Given the description of an element on the screen output the (x, y) to click on. 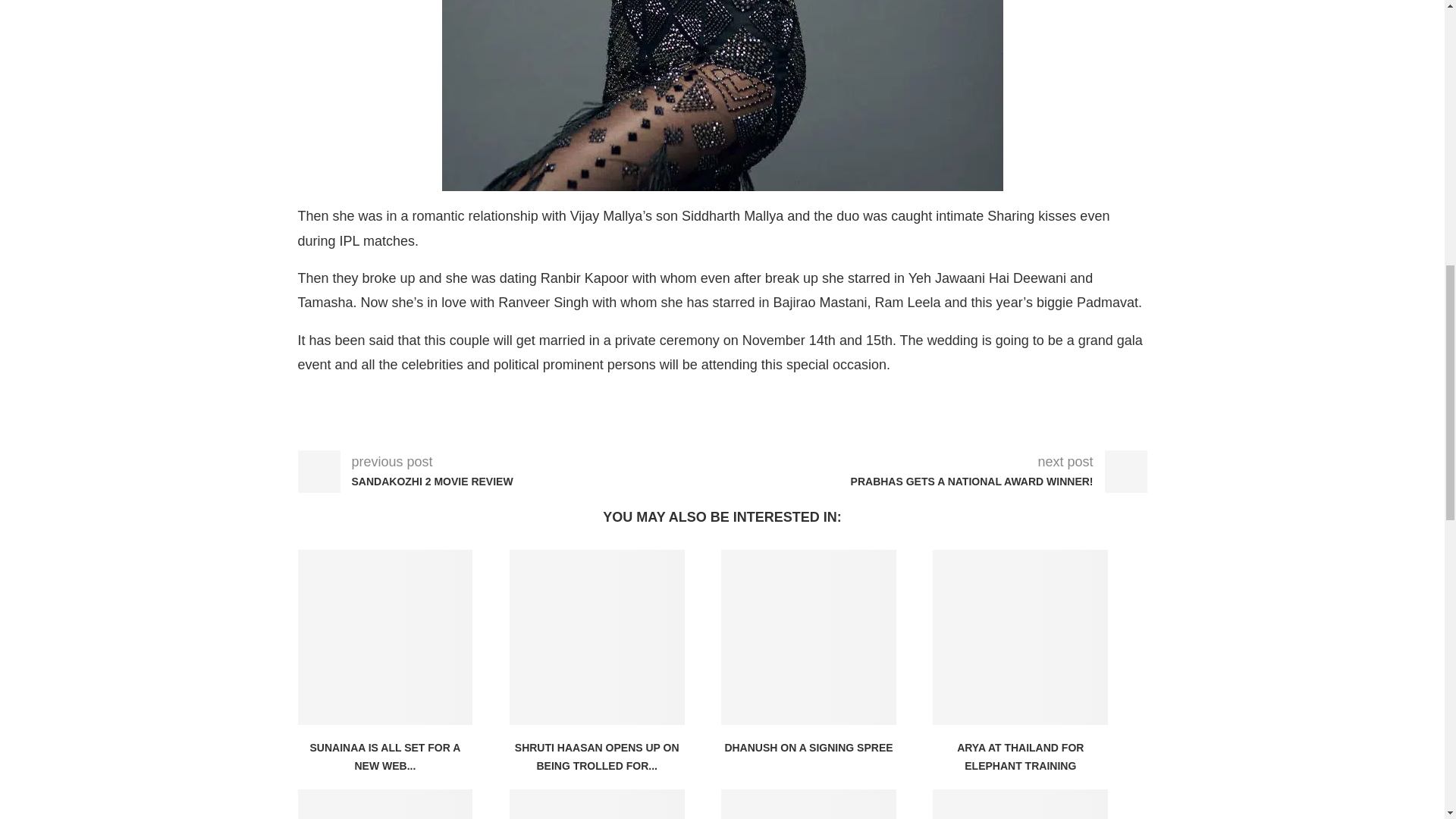
ARYA AT THAILAND FOR ELEPHANT TRAINING (1019, 757)
SUNAINAA IS ALL SET FOR A NEW WEB... (384, 757)
Dhanush on a signing spree (808, 636)
Sunainaa is all set for a new web series (384, 636)
DHANUSH ON A SIGNING SPREE (807, 747)
SANDAKOZHI 2 MOVIE REVIEW (442, 482)
PRABHAS GETS A NATIONAL AWARD WINNER! (962, 482)
When is Deepika getting hitched? 2 (722, 95)
SHRUTI HAASAN OPENS UP ON BEING TROLLED FOR... (597, 757)
Arya at Thailand for Elephant training (1020, 636)
